Given the description of an element on the screen output the (x, y) to click on. 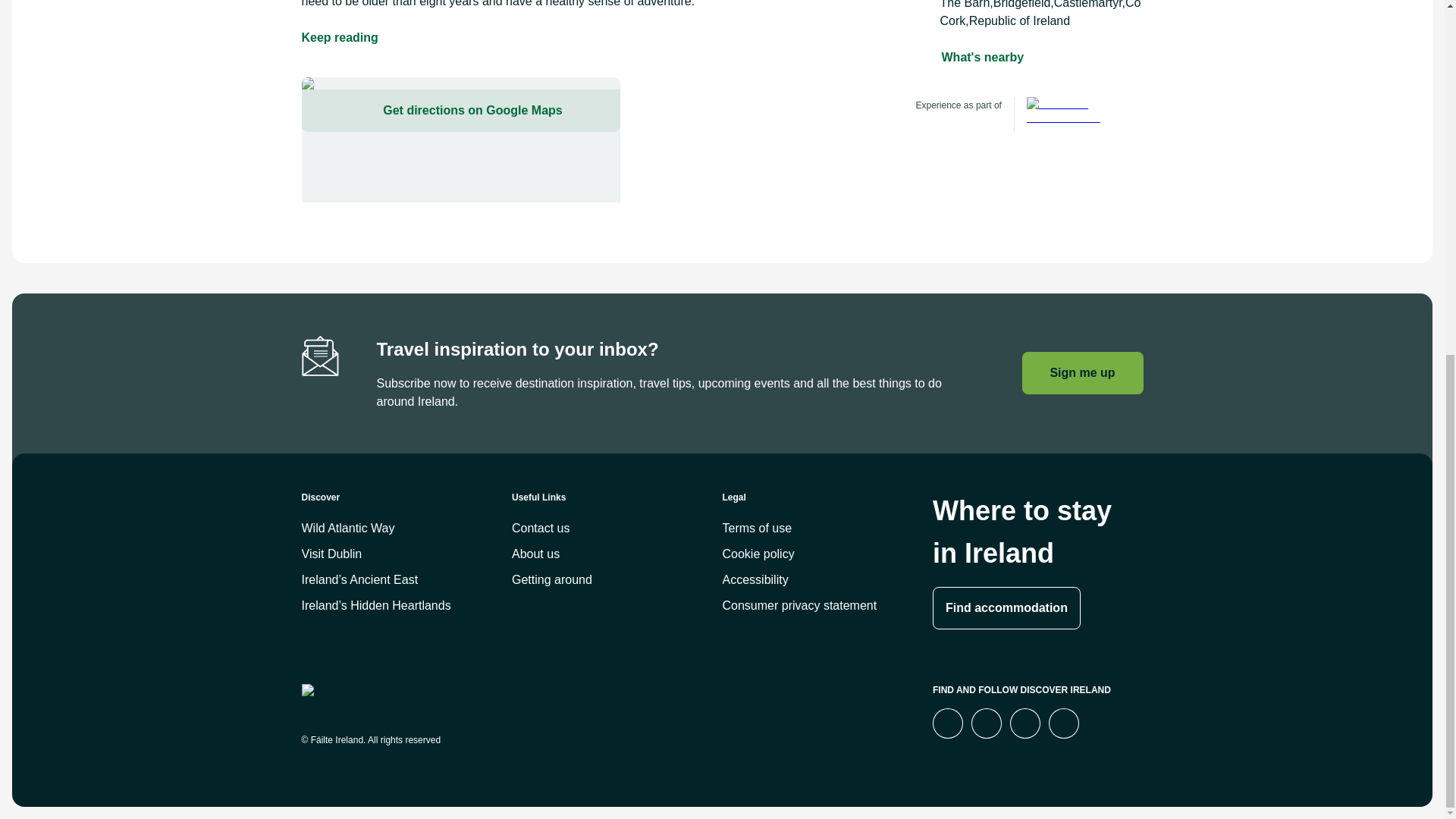
Get directions on Google Maps (460, 139)
Ireland's Ancient East (1070, 114)
Keep reading (339, 37)
Discover (406, 503)
What's nearby (983, 57)
Get directions on Google Maps (460, 110)
Sign me up (1082, 372)
